Given the description of an element on the screen output the (x, y) to click on. 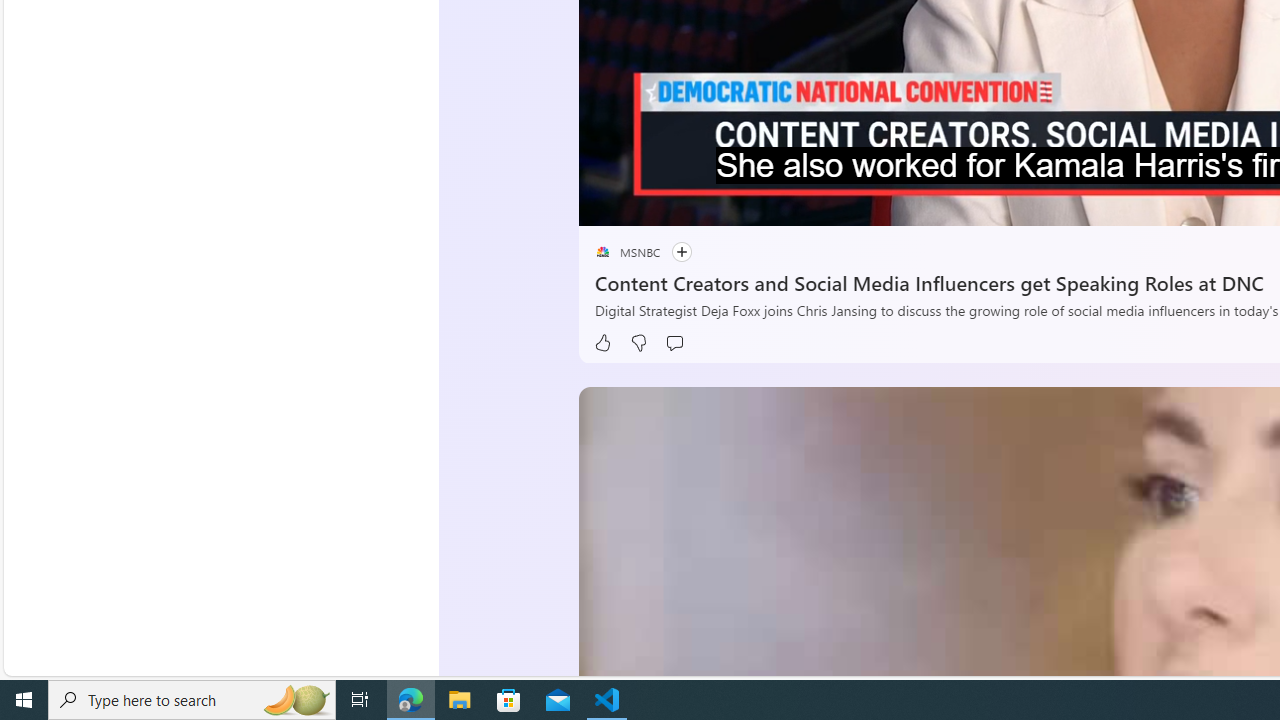
placeholder MSNBC (626, 252)
placeholder (601, 252)
Seek Forward (688, 203)
Like (601, 343)
Seek Back (648, 203)
Pause (607, 203)
Follow (671, 251)
